Given the description of an element on the screen output the (x, y) to click on. 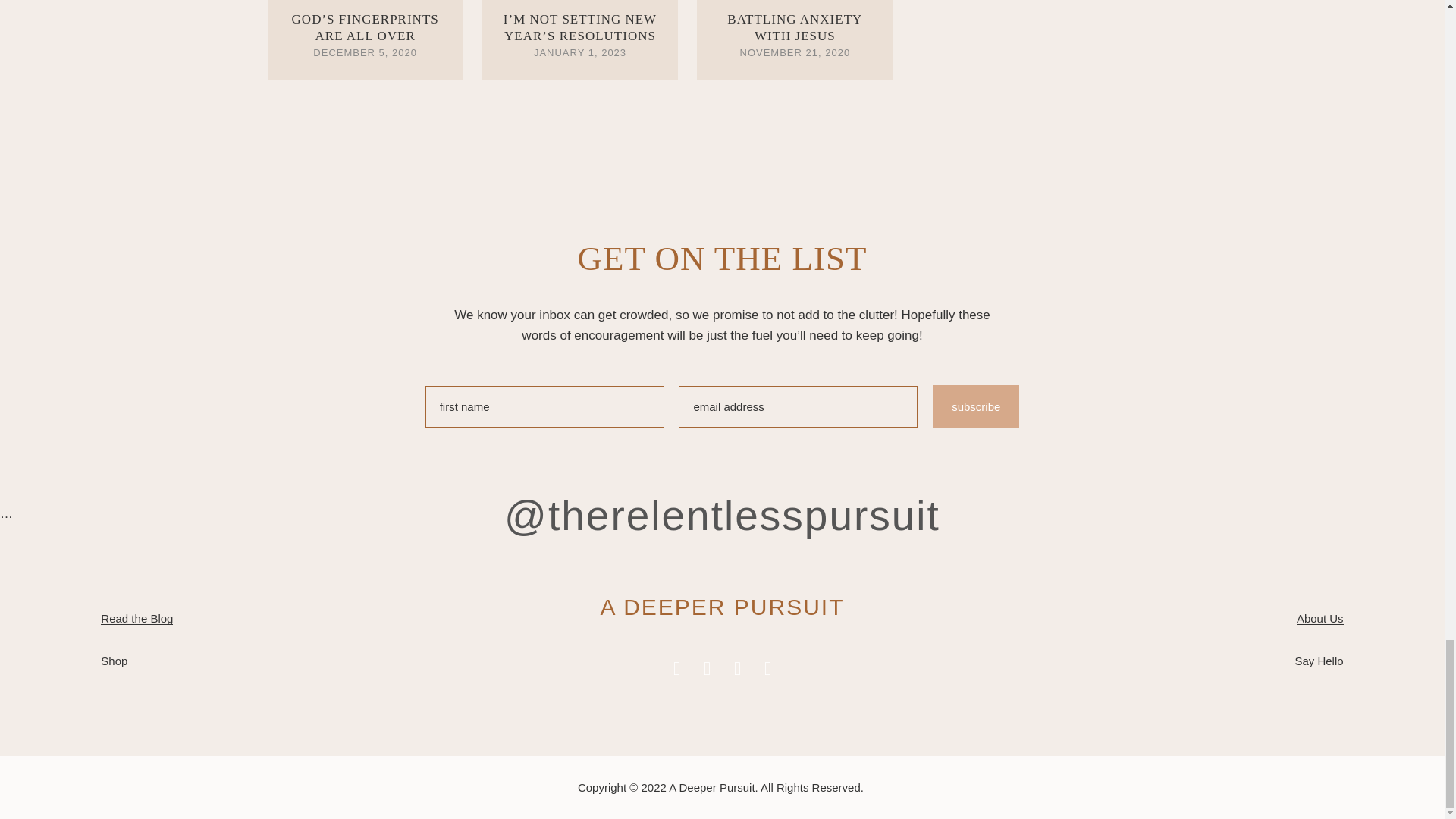
BATTLING ANXIETY WITH JESUS (793, 27)
subscribe (976, 406)
subscribe (976, 406)
